Given the description of an element on the screen output the (x, y) to click on. 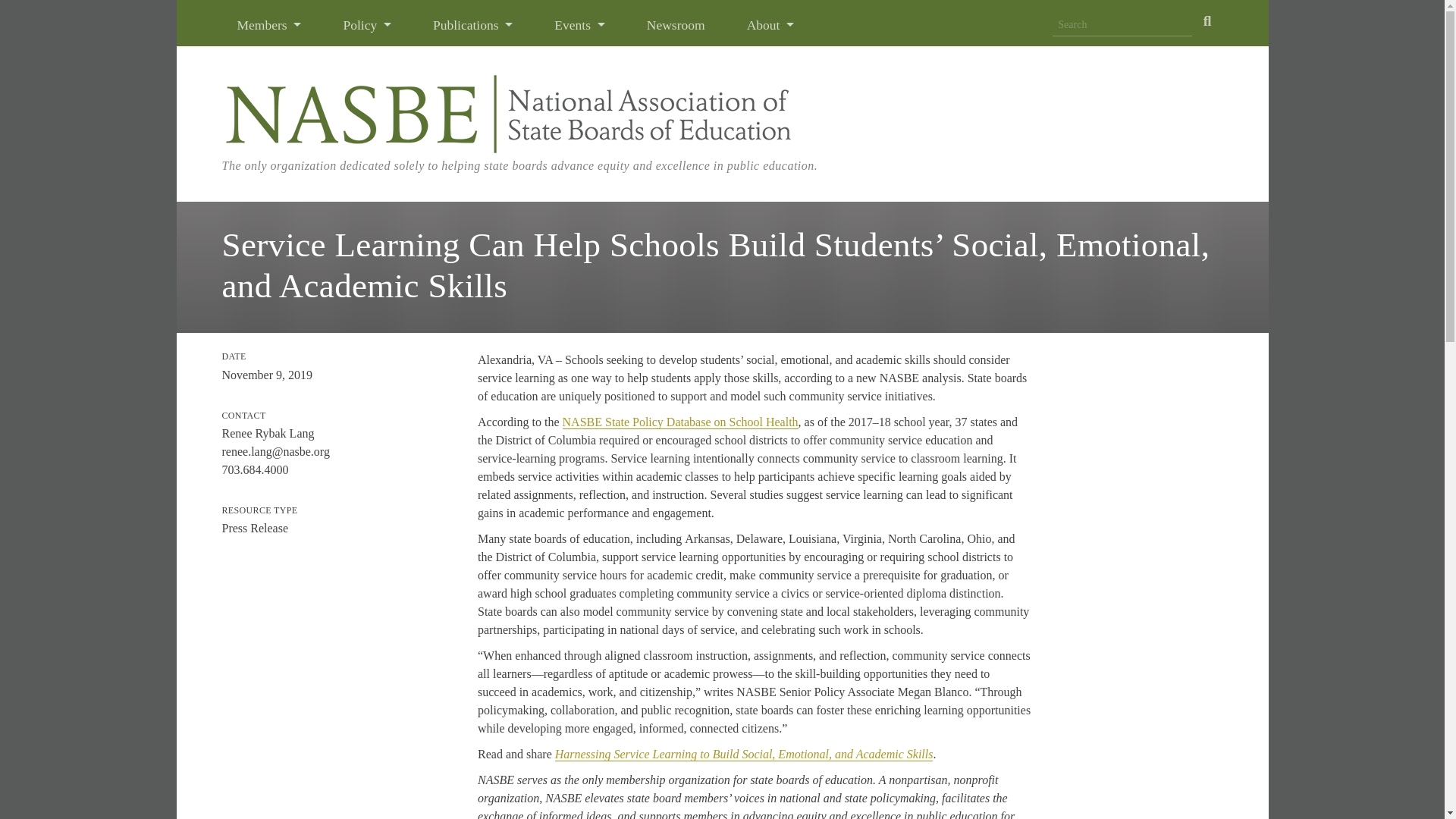
Policy (366, 24)
Members (268, 24)
Events (579, 24)
Newsroom (676, 24)
About (769, 24)
Publications (472, 24)
